Given the description of an element on the screen output the (x, y) to click on. 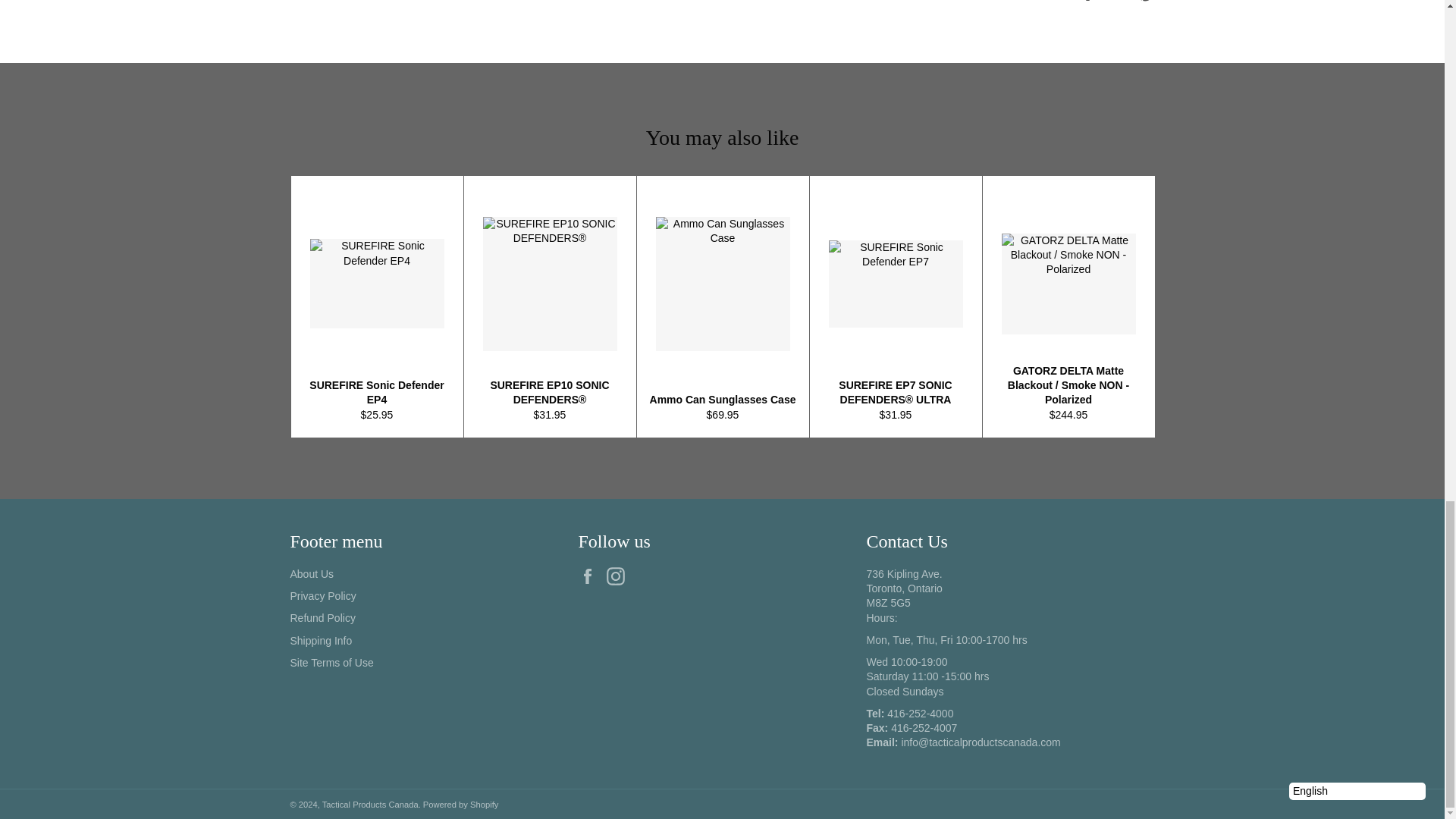
Tactical Products Canada on Facebook (591, 576)
Tactical Products Canada on Instagram (619, 576)
tel:4162524000 (919, 713)
